Given the description of an element on the screen output the (x, y) to click on. 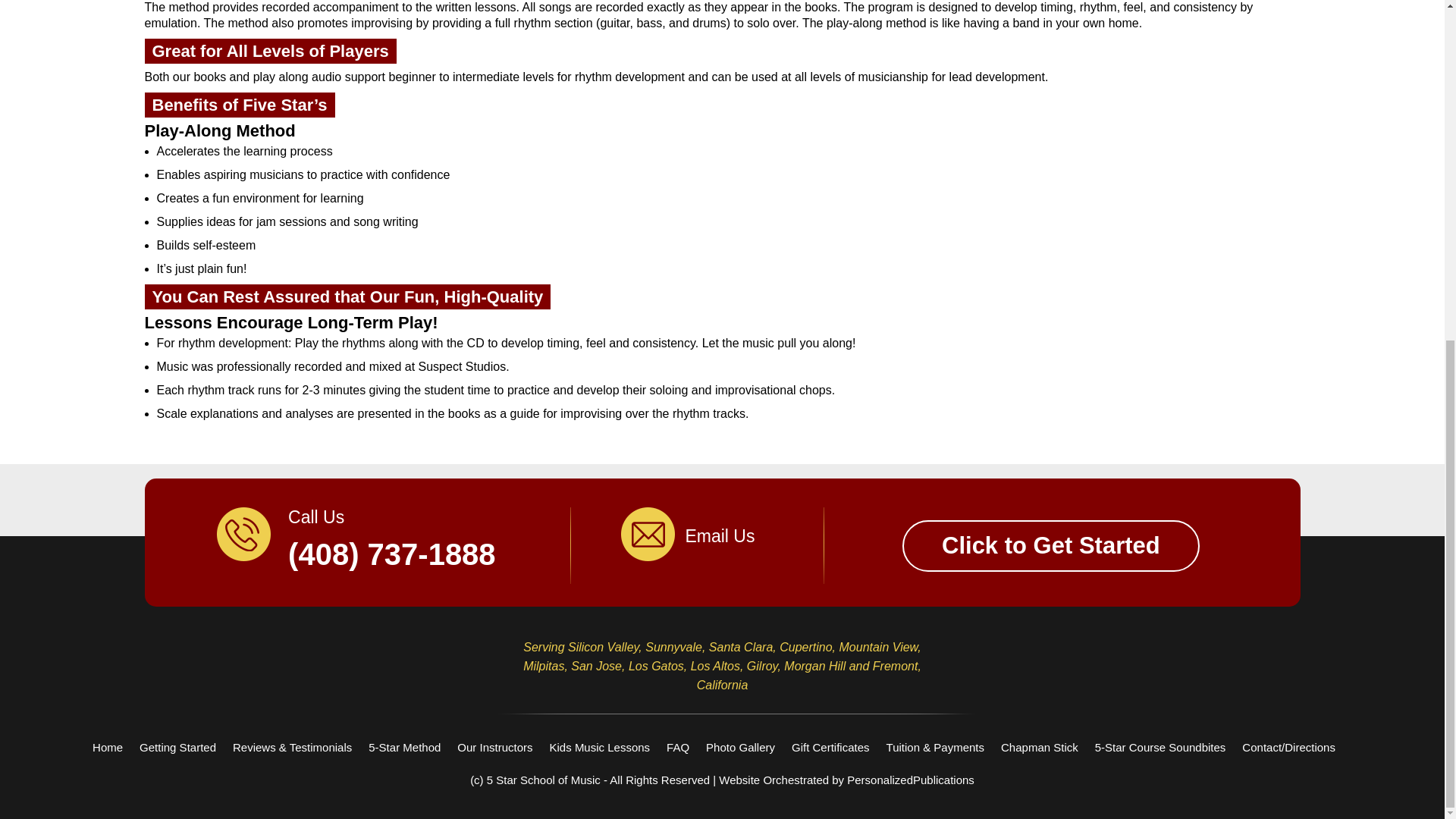
Chapman Stick (1039, 747)
Getting Started (177, 747)
Kids Music Lessons (600, 747)
5-Star Method (404, 747)
FAQ (677, 747)
Our Instructors (494, 747)
Home (107, 747)
Email Us (722, 531)
Gift Certificates (830, 747)
Click to Get Started (1050, 545)
